Given the description of an element on the screen output the (x, y) to click on. 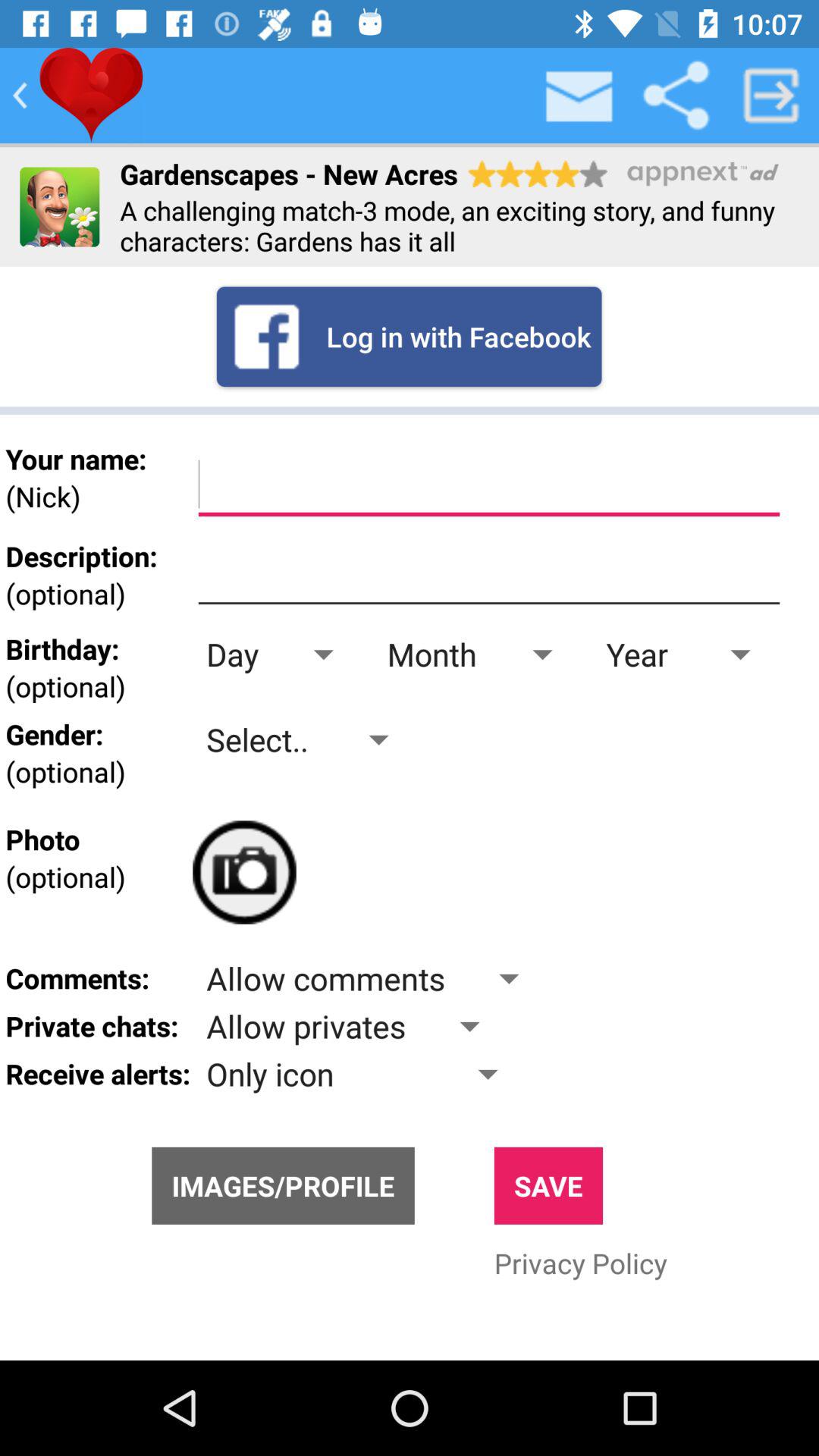
back button (19, 95)
